Given the description of an element on the screen output the (x, y) to click on. 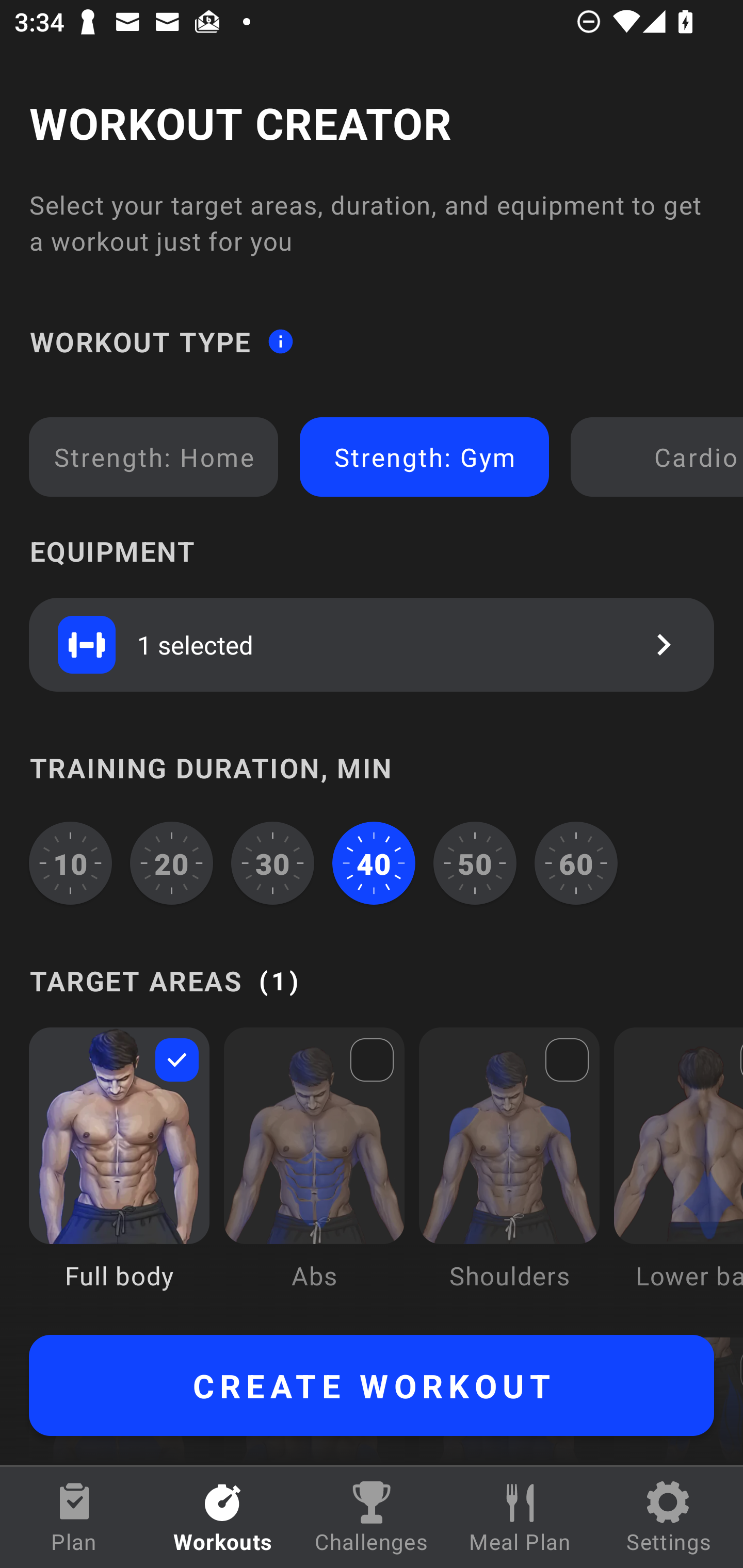
Workout type information button (280, 340)
Strength: Home (153, 457)
Cardio (660, 457)
1 selected (371, 644)
10 (70, 863)
20 (171, 863)
30 (272, 863)
40 (373, 863)
50 (474, 863)
60 (575, 863)
Abs (313, 1172)
Shoulders (509, 1172)
Lower back (678, 1172)
CREATE WORKOUT (371, 1385)
 Plan  (74, 1517)
 Challenges  (371, 1517)
 Meal Plan  (519, 1517)
 Settings  (668, 1517)
